Given the description of an element on the screen output the (x, y) to click on. 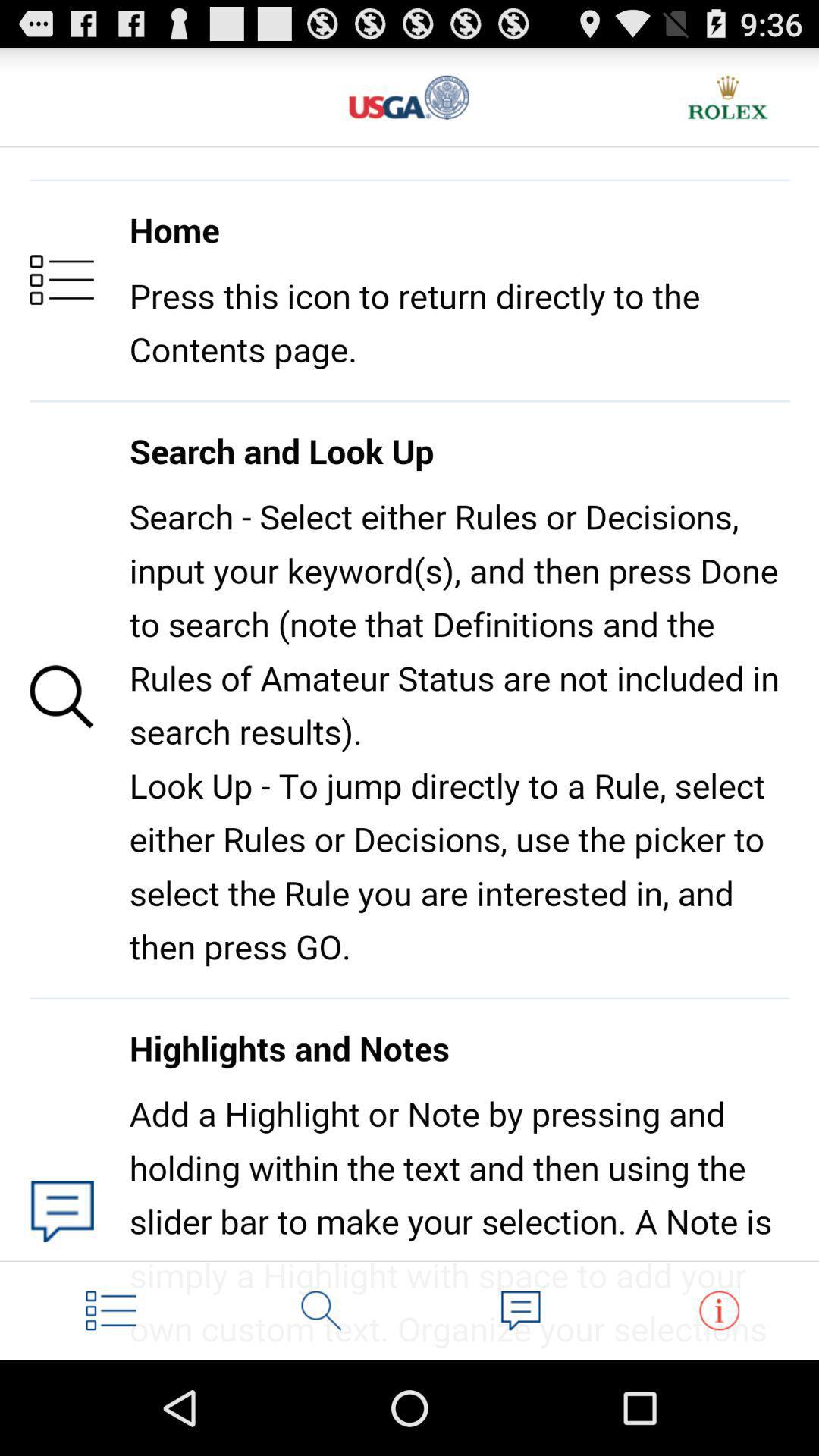
go to website (409, 97)
